Given the description of an element on the screen output the (x, y) to click on. 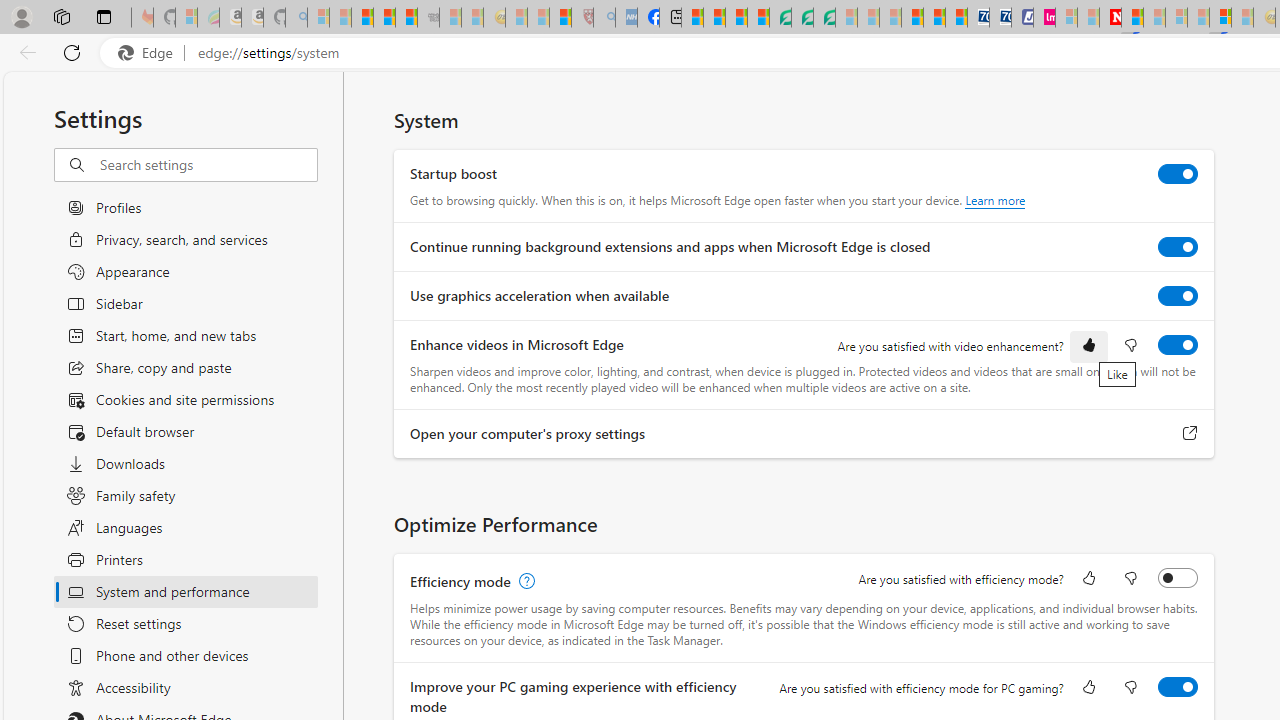
Microsoft Word - consumer-privacy address update 2.2021 (824, 17)
Efficiency mode (1178, 578)
Efficiency mode, learn more (523, 582)
LendingTree - Compare Lenders (780, 17)
Edge (150, 53)
Learn more (995, 200)
